Given the description of an element on the screen output the (x, y) to click on. 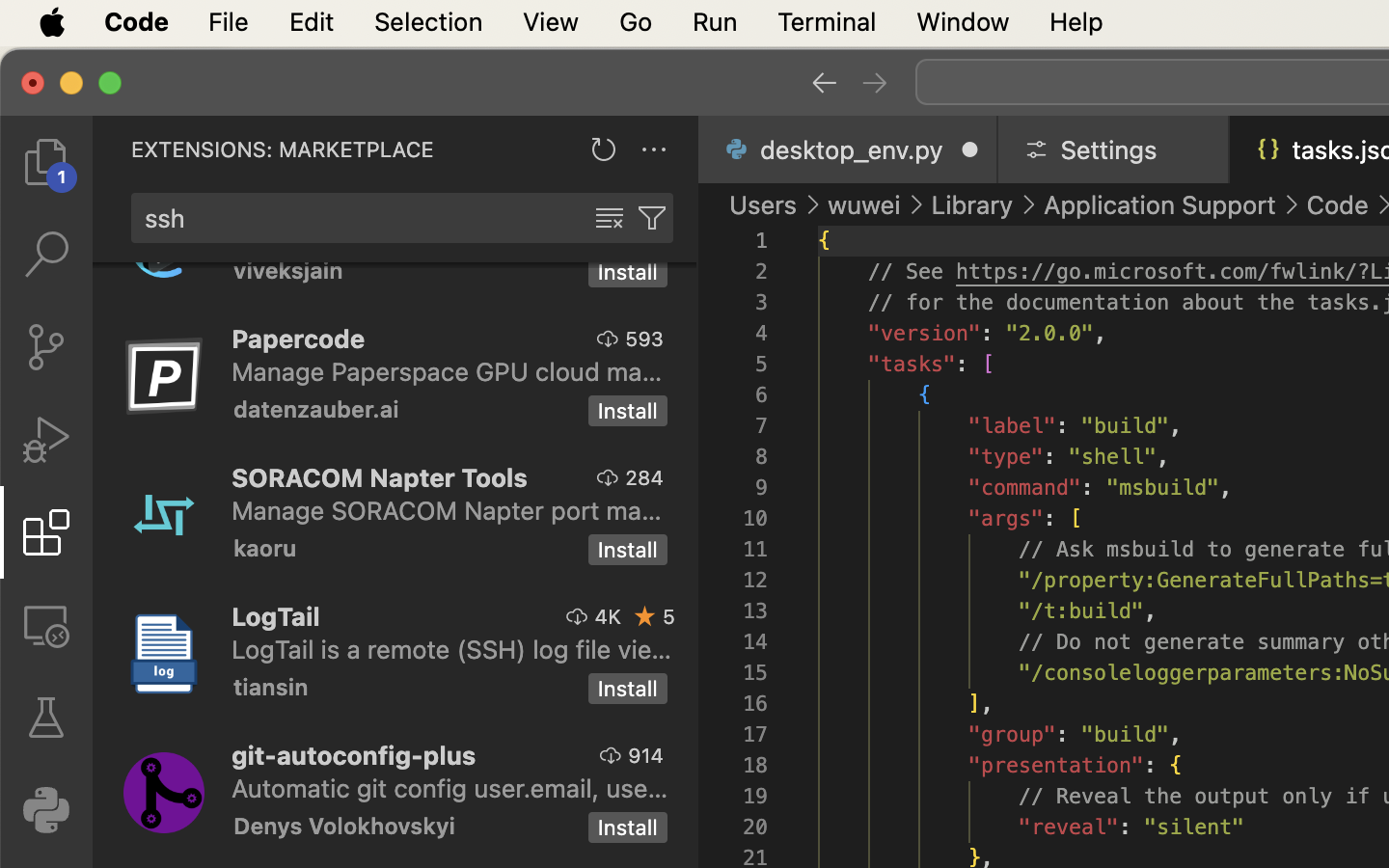
LogTail is a remote (SSH) log file viewer and monitoring extension. Element type: AXStaticText (452, 648)
0 Element type: AXRadioButton (46, 809)
0 Settings   Element type: AXRadioButton (1114, 149)
SORACOM Napter Tools Element type: AXStaticText (379, 476)
0  Element type: AXRadioButton (46, 161)
